Given the description of an element on the screen output the (x, y) to click on. 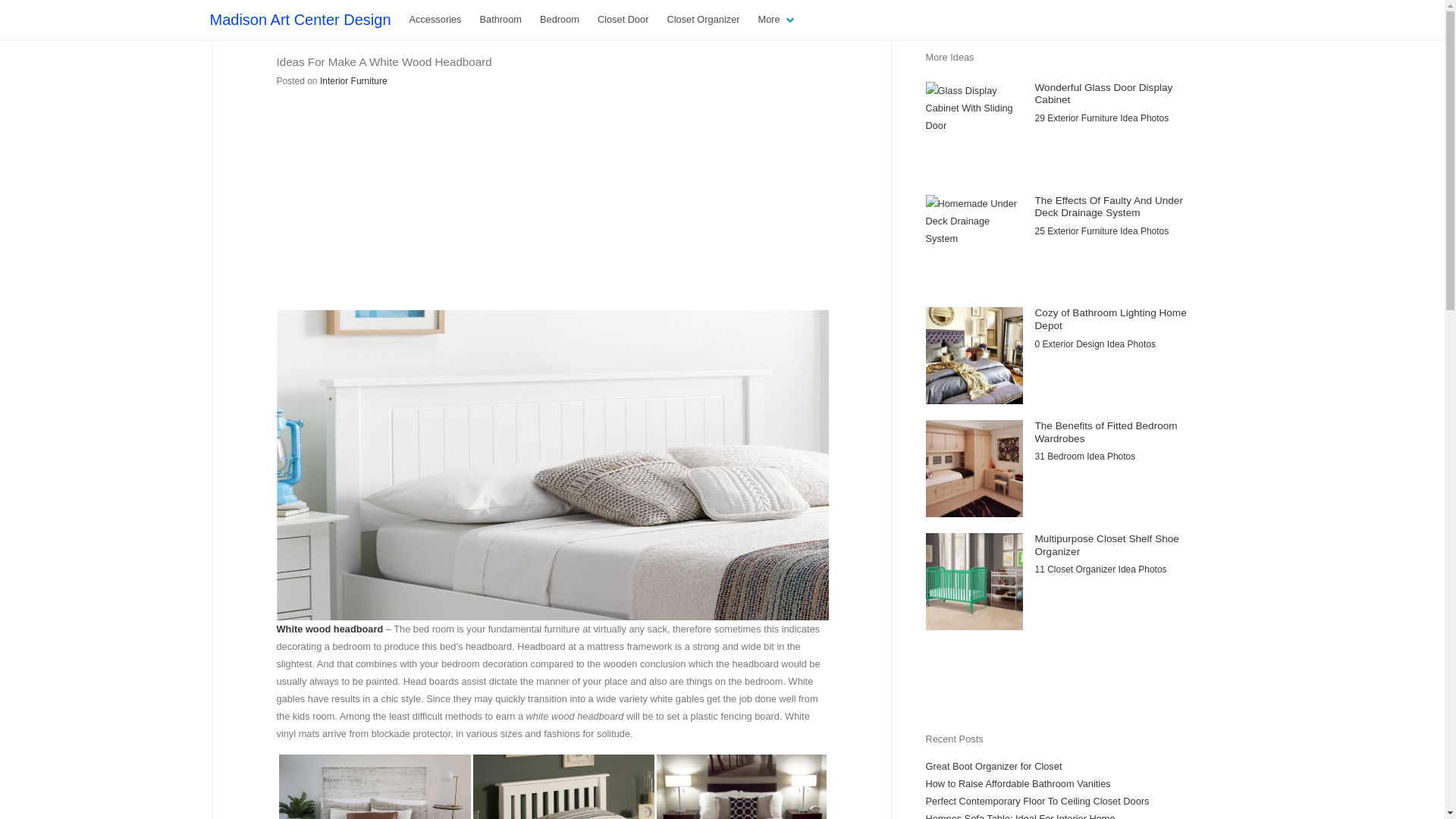
Closet Organizer (703, 19)
Advertisement (553, 202)
Closet Door (623, 19)
Accessories (435, 19)
Madison Art Center Design (299, 19)
More (777, 19)
Bathroom (499, 19)
King Size Wood Headboard (374, 785)
Interior Furniture (353, 81)
Bedroom (559, 19)
Full White Wood Headboard (741, 785)
White Wash Wood Headboard (563, 785)
